Given the description of an element on the screen output the (x, y) to click on. 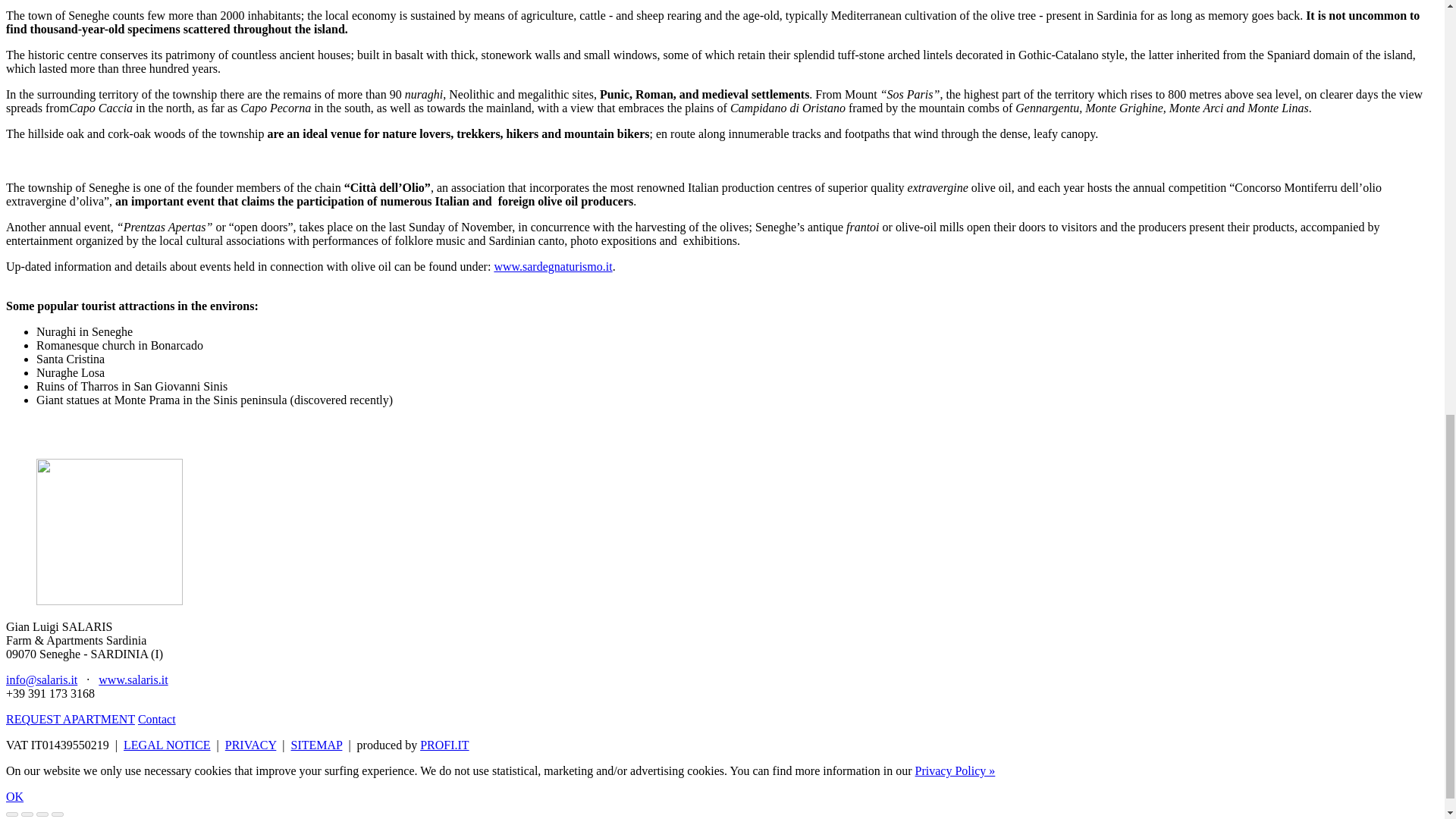
write email (41, 679)
SITEMAP (316, 744)
REQUEST APARTMENT (70, 718)
www.sardegnaturismo.it (552, 266)
LEGAL NOTICE (167, 744)
Toggle fullscreen (42, 814)
Contact (157, 718)
PRIVACY (250, 744)
LEGAL NOTICE (167, 744)
SITEMAP (316, 744)
